Given the description of an element on the screen output the (x, y) to click on. 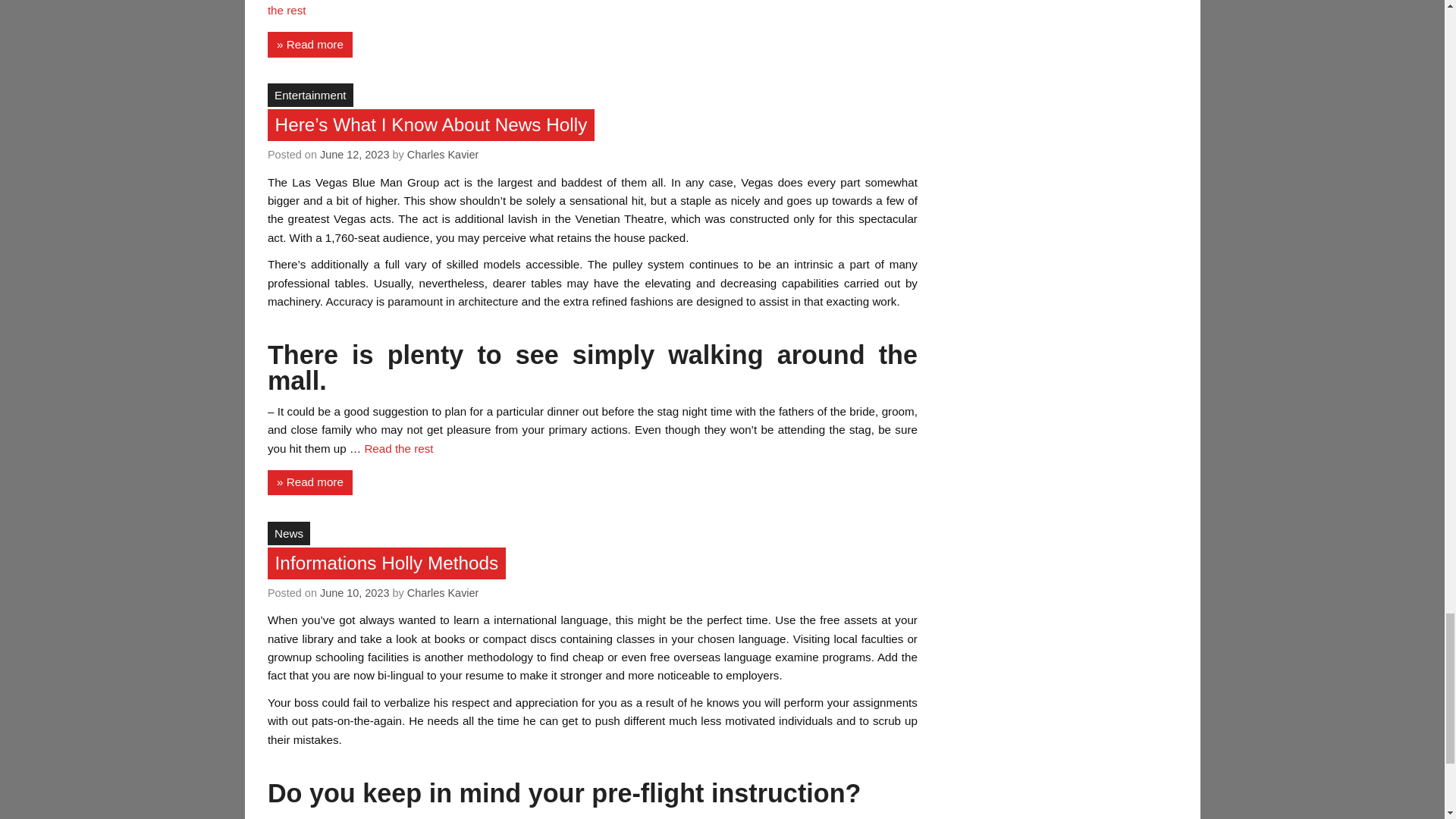
5:34 pm (355, 154)
